Given the description of an element on the screen output the (x, y) to click on. 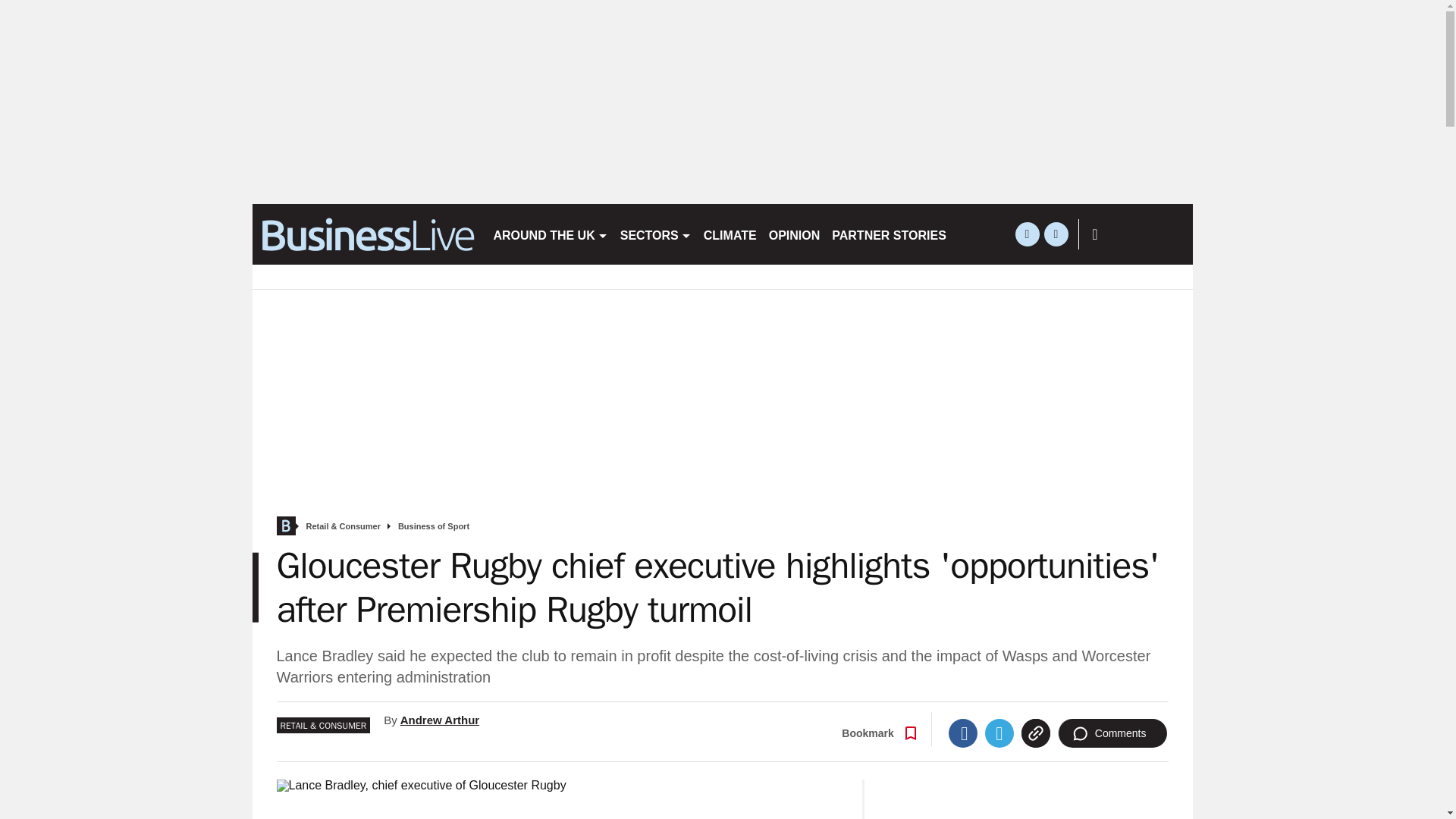
Facebook (962, 733)
linkedin (1055, 233)
CLIMATE (729, 233)
Comments (1112, 733)
SECTORS (655, 233)
PARTNER STORIES (888, 233)
twitter (1026, 233)
birminghampost (365, 233)
AROUND THE UK (549, 233)
Twitter (999, 733)
